Given the description of an element on the screen output the (x, y) to click on. 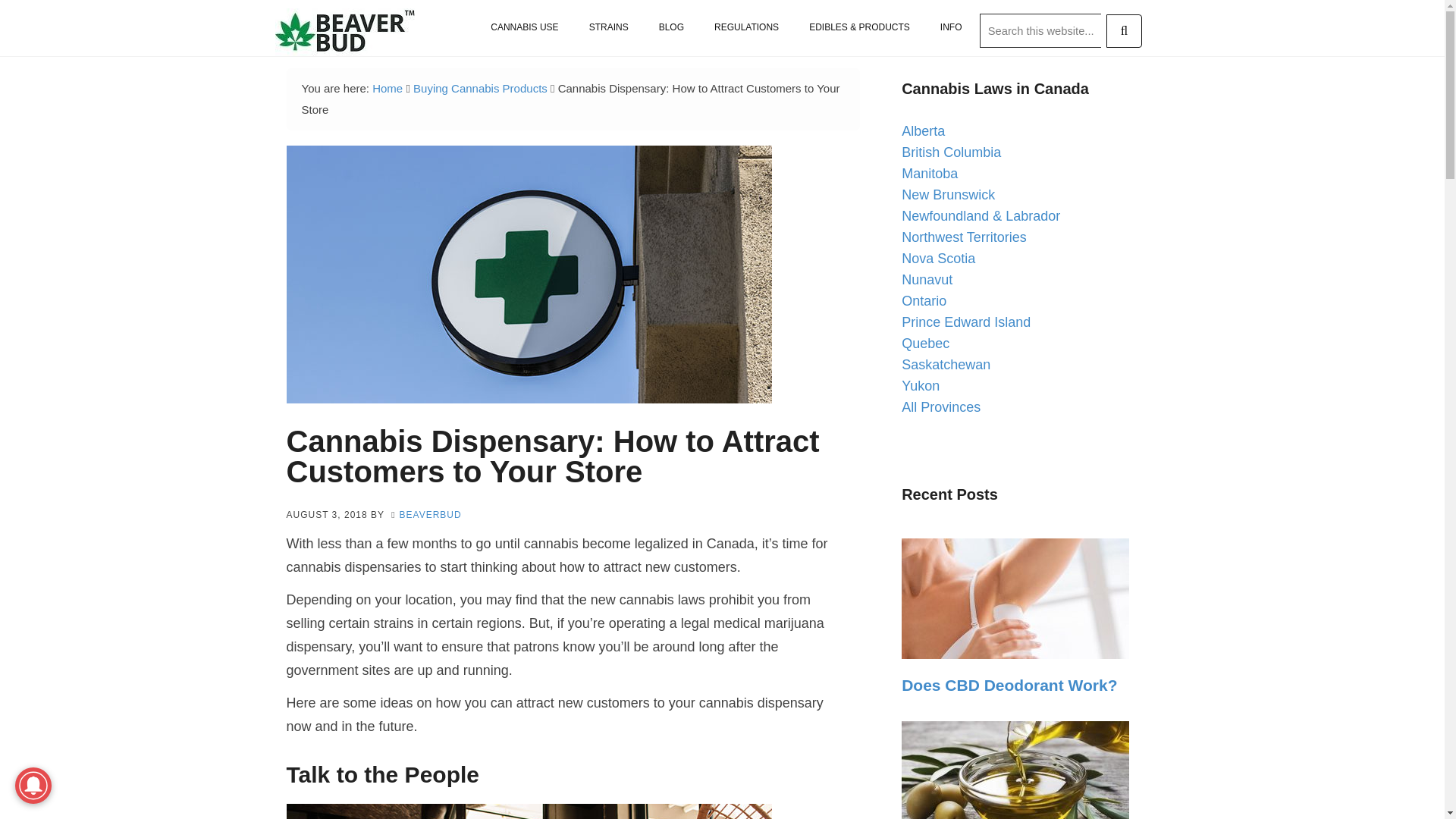
Home (387, 88)
STRAINS (608, 27)
CANNABIS USE (524, 27)
REGULATIONS (745, 27)
BEAVERBUD (429, 514)
Buying Cannabis Products (480, 88)
INFO (950, 27)
BEAVER BUD (323, 31)
BLOG (670, 27)
